Given the description of an element on the screen output the (x, y) to click on. 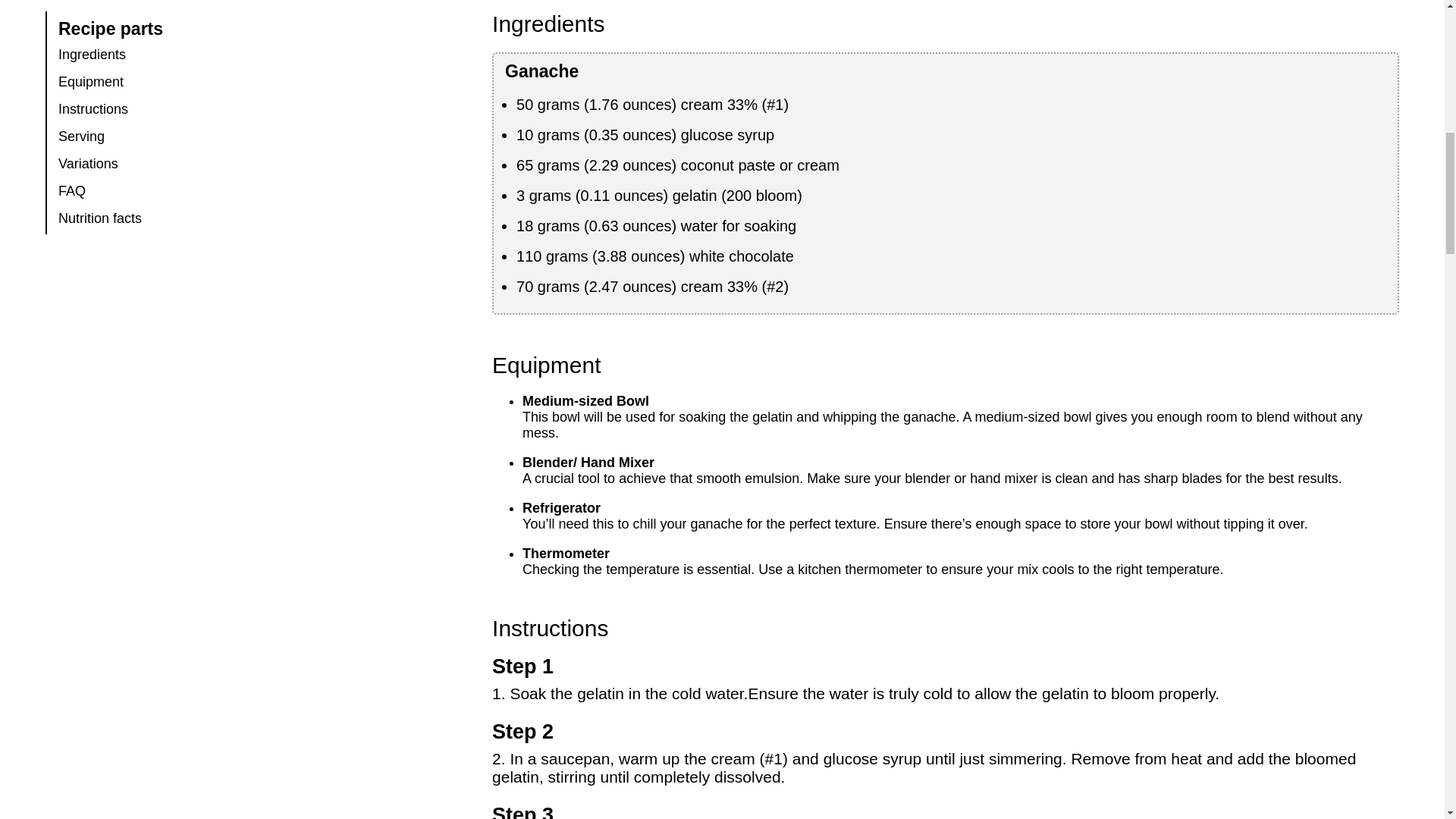
Serving (81, 136)
Instructions (93, 109)
Nutrition facts (99, 218)
Nutrition facts (99, 218)
Equipment (90, 81)
FAQ (71, 191)
Variations (87, 163)
Equipment (90, 81)
Ingredients (91, 54)
FAQ (71, 191)
Variations (87, 163)
Serving (81, 136)
Ingredients (91, 54)
Instructions (93, 109)
